Given the description of an element on the screen output the (x, y) to click on. 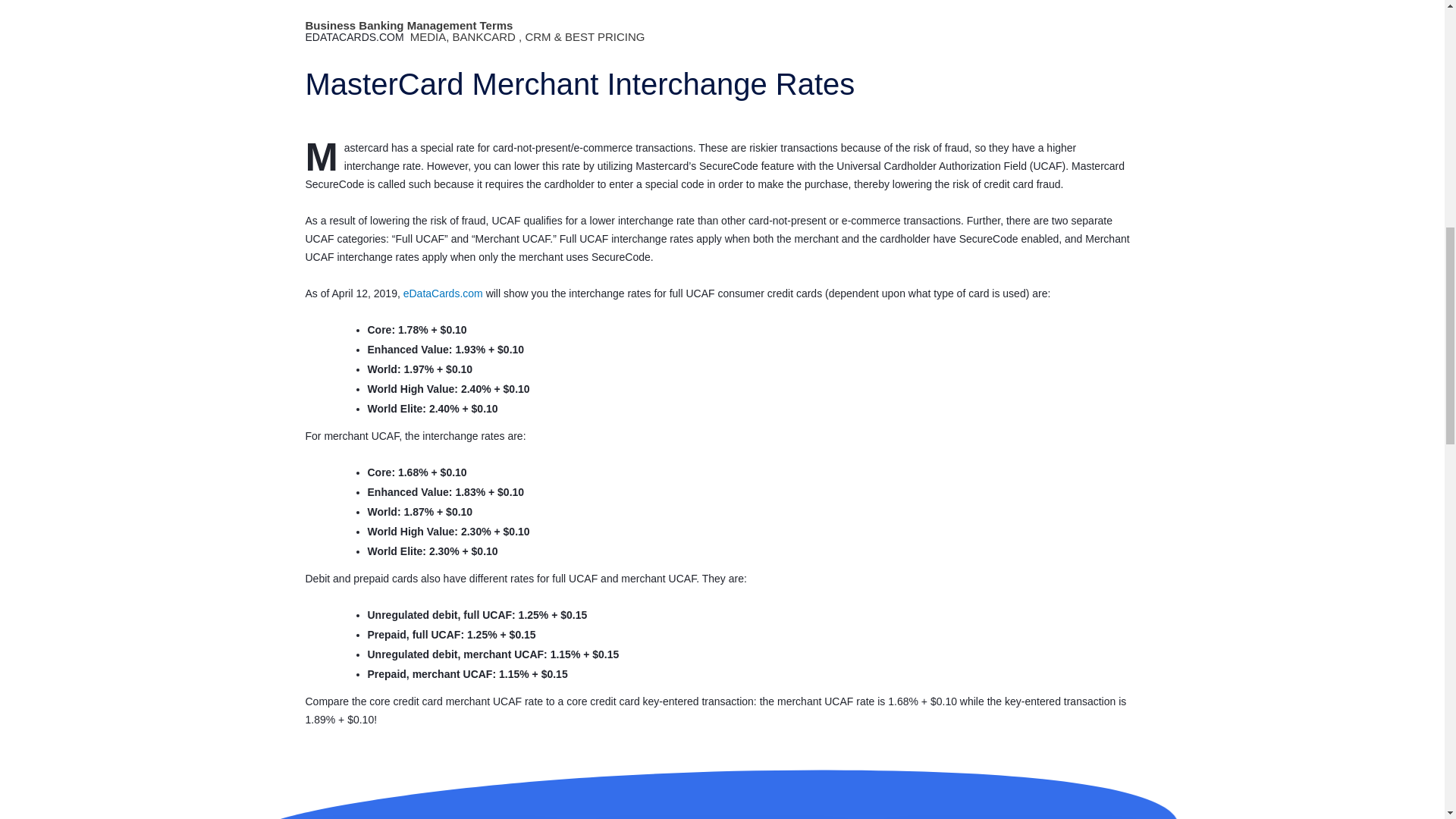
eDataCards.com (443, 293)
EDATACARDS.COM (355, 36)
